Given the description of an element on the screen output the (x, y) to click on. 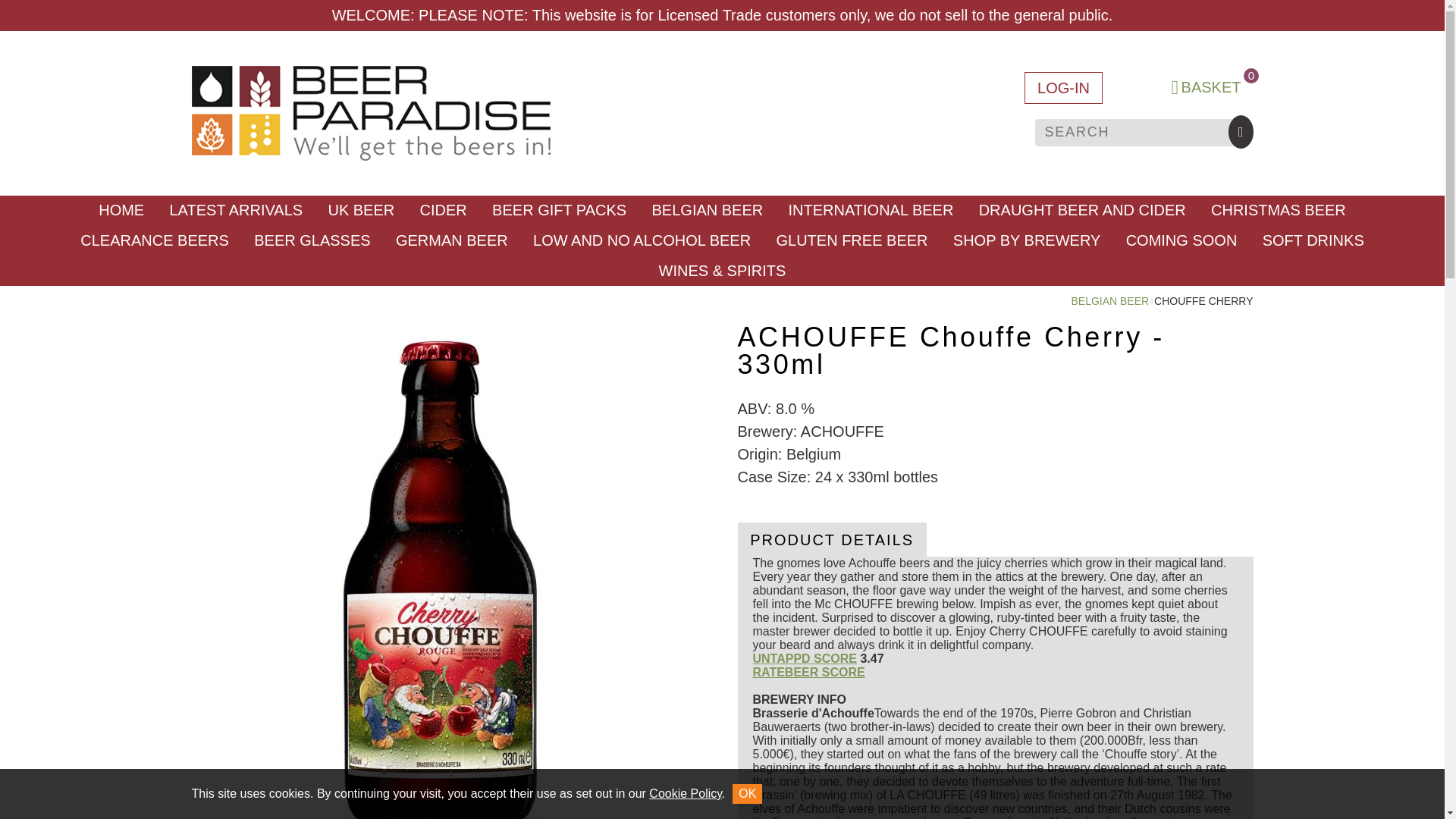
GLUTEN FREE BEER (851, 240)
UK BEER (361, 210)
UNTAPPD SCORE (804, 658)
SOFT DRINKS (1312, 240)
SHOP BY BREWERY (1026, 240)
CLEARANCE BEERS (154, 240)
HOME (121, 210)
INTERNATIONAL BEER (871, 210)
LOW AND NO ALCOHOL BEER (640, 240)
PRODUCT DETAILS (831, 539)
BEER GLASSES (312, 240)
RATEBEER SCORE (808, 671)
LOG-IN (1205, 88)
CIDER (1063, 88)
